Given the description of an element on the screen output the (x, y) to click on. 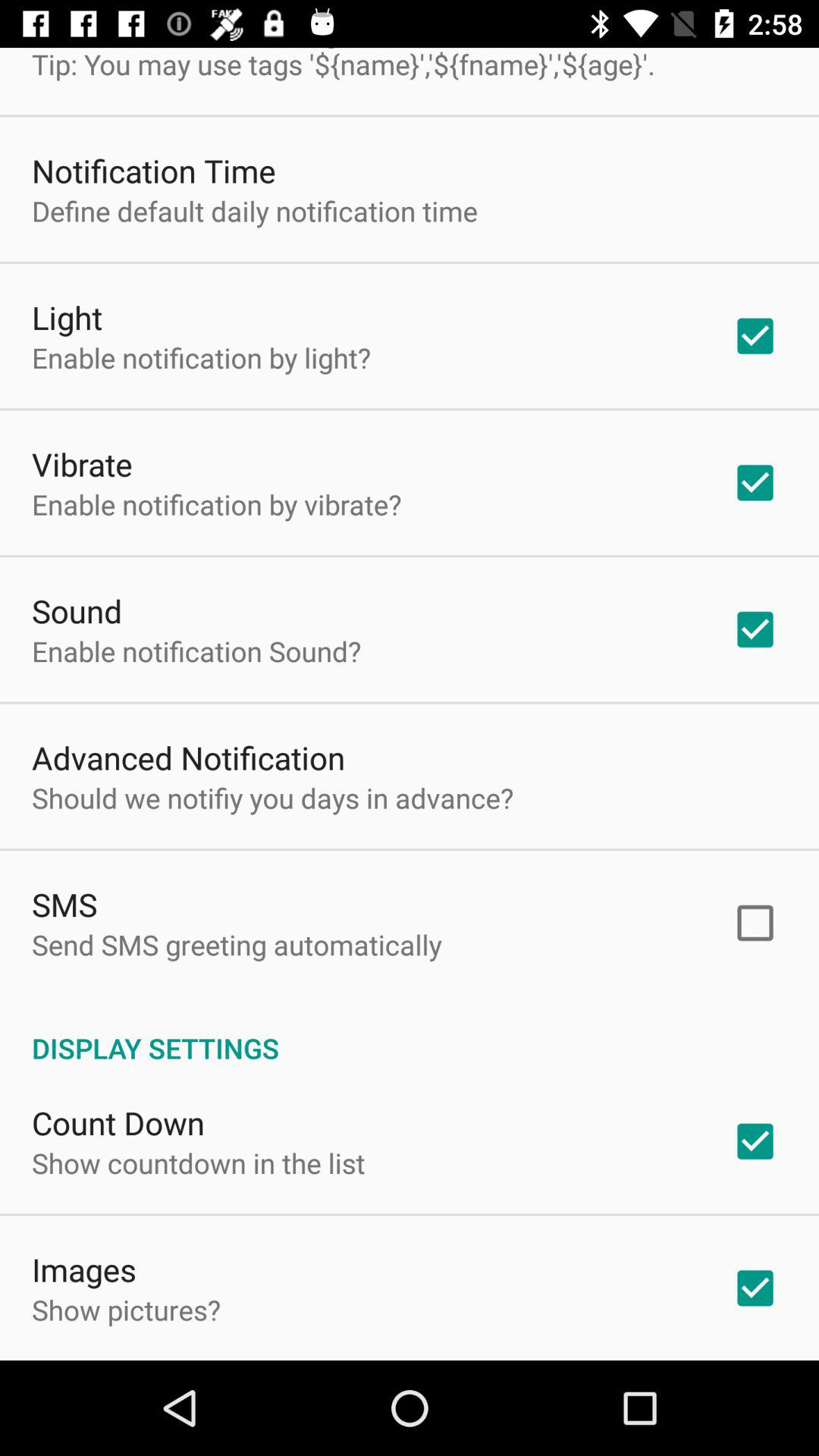
choose app above the images app (198, 1162)
